Given the description of an element on the screen output the (x, y) to click on. 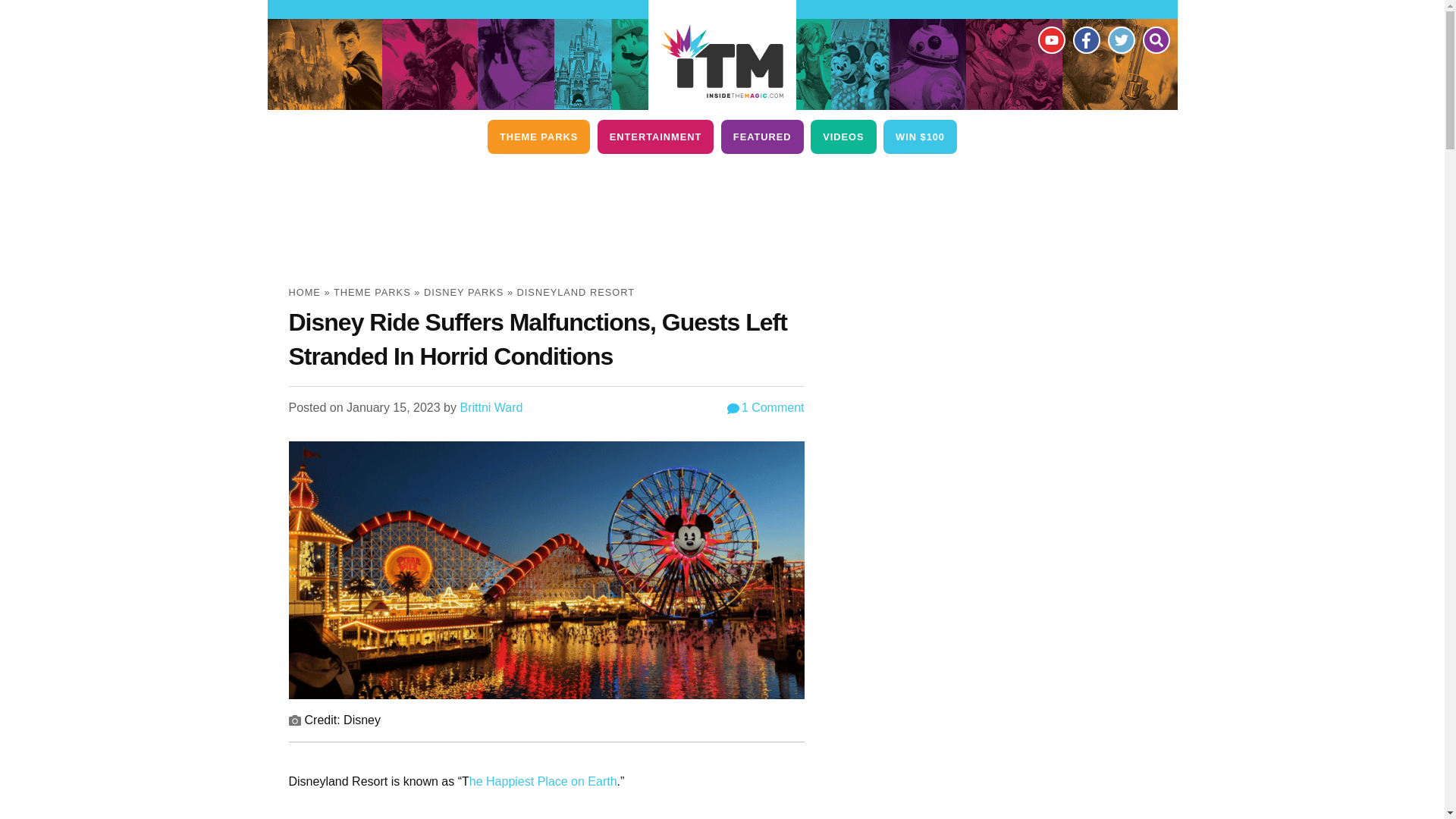
Search (1155, 40)
THEME PARKS (538, 136)
FEATURED (761, 136)
Twitter (1120, 40)
YouTube (1050, 40)
Facebook (1085, 40)
ENTERTAINMENT (655, 136)
